Given the description of an element on the screen output the (x, y) to click on. 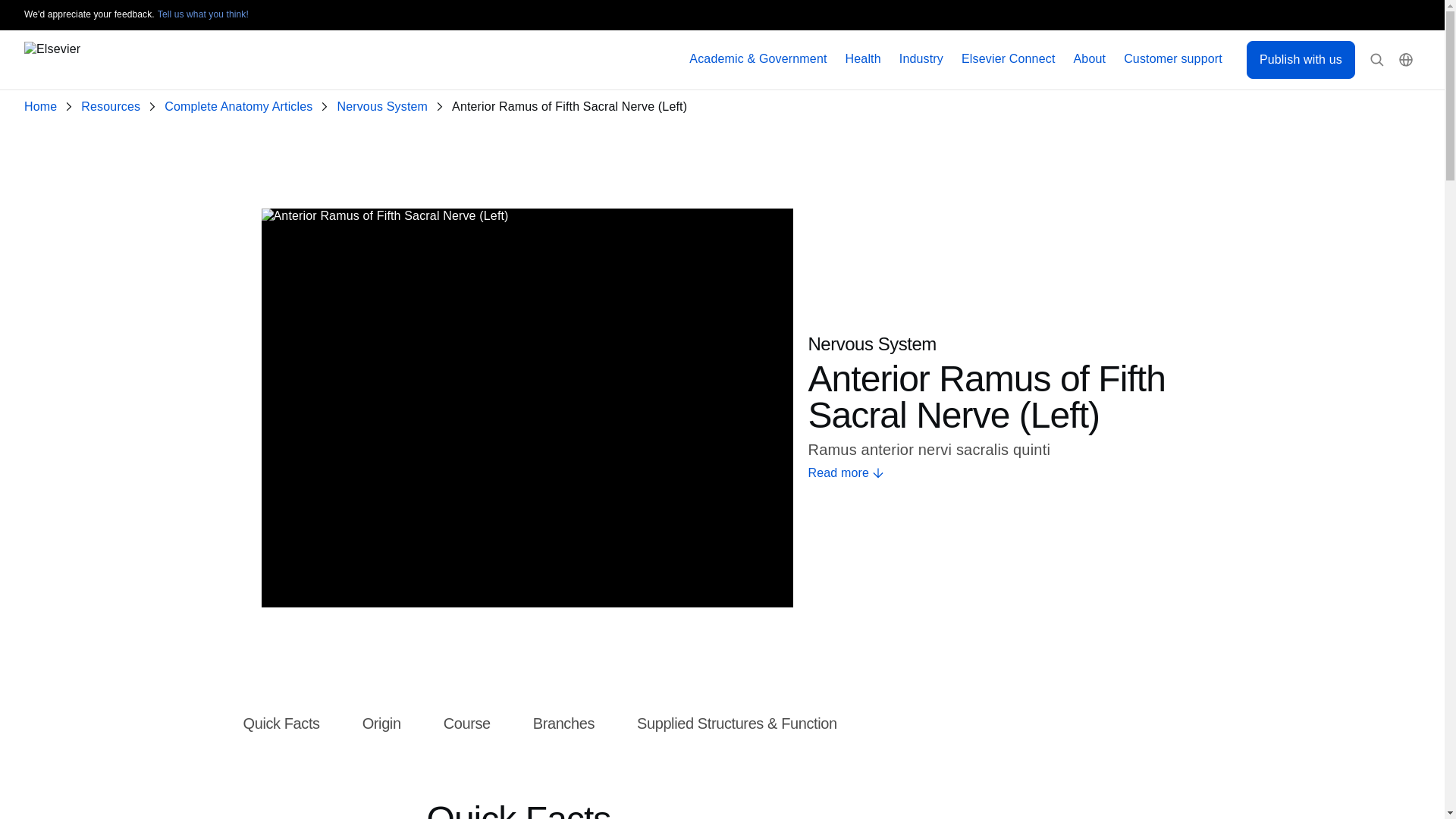
About (1090, 59)
Quick Facts (280, 724)
Open Search (1376, 59)
Industry (921, 59)
Complete Anatomy Articles (241, 107)
Publish with us (1300, 59)
Location Selector (1406, 59)
Nervous System (384, 107)
Customer support (1173, 59)
Read more (995, 473)
